Given the description of an element on the screen output the (x, y) to click on. 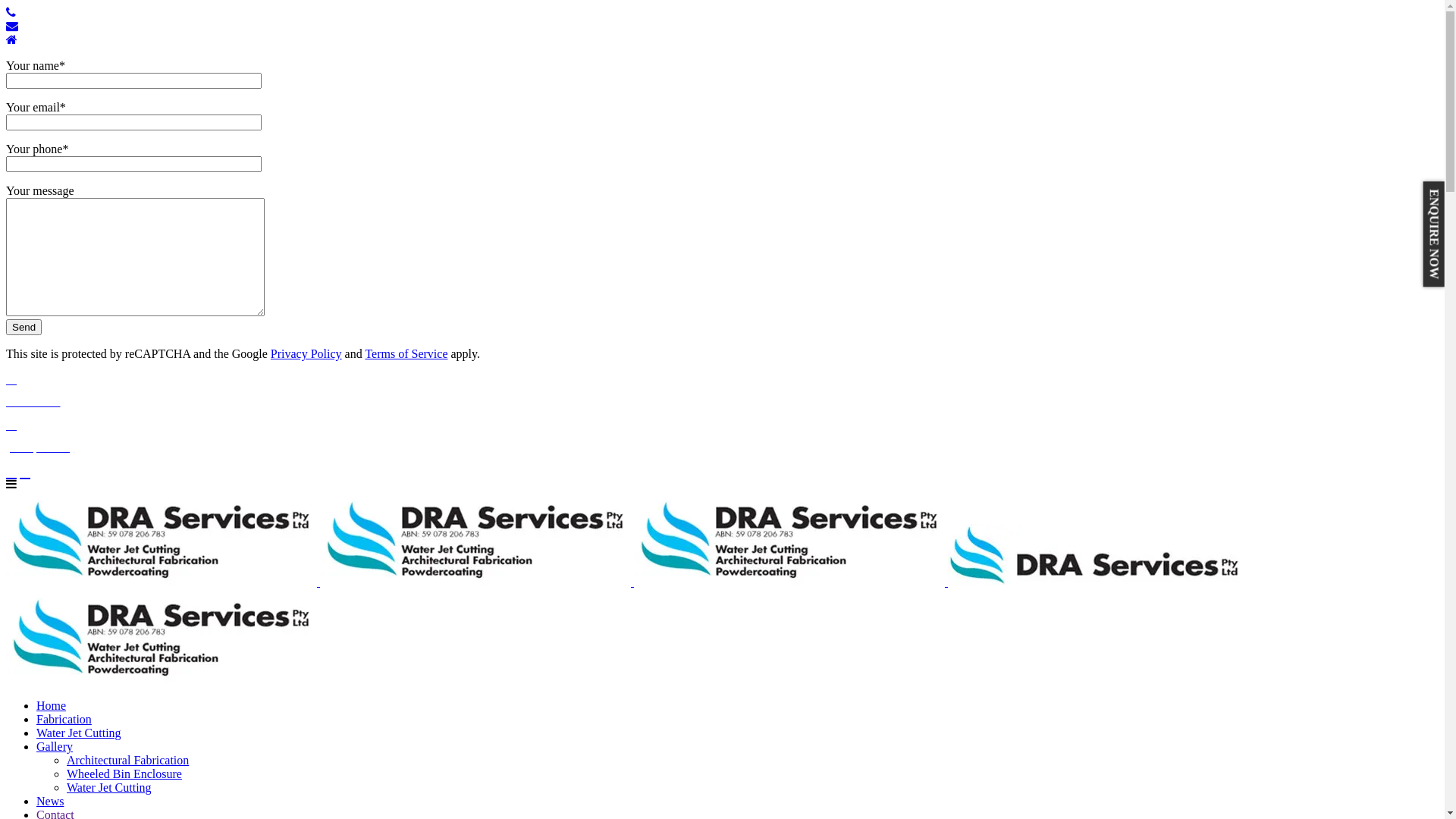
Terms of Service Element type: text (405, 353)
Privacy Policy Element type: text (306, 353)
Send Element type: text (23, 327)
Wheeled Bin Enclosure Element type: text (124, 773)
Architectural Fabrication Element type: text (127, 759)
07 3205 1533 Element type: text (722, 390)
Water Jet Cutting Element type: text (78, 732)
[email protected] Element type: text (722, 447)
Home Element type: text (50, 705)
Fabrication Element type: text (63, 718)
News Element type: text (49, 800)
Gallery Element type: text (54, 746)
Water Jet Cutting Element type: text (108, 787)
